Given the description of an element on the screen output the (x, y) to click on. 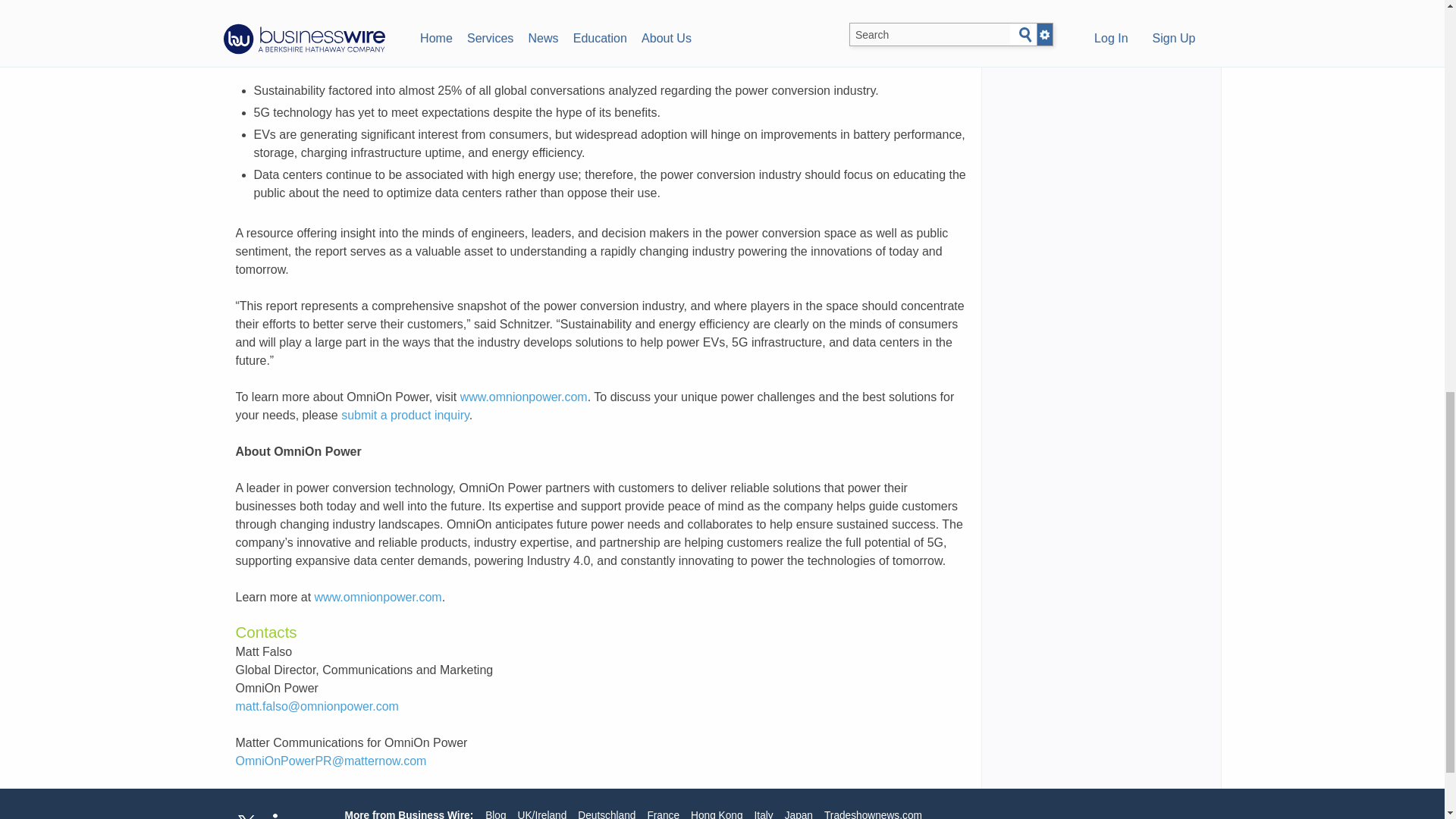
State of the Power Conversion Industry report (784, 17)
www.omnionpower.com (378, 596)
www.omnionpower.com (524, 396)
submit a product inquiry (404, 414)
